Given the description of an element on the screen output the (x, y) to click on. 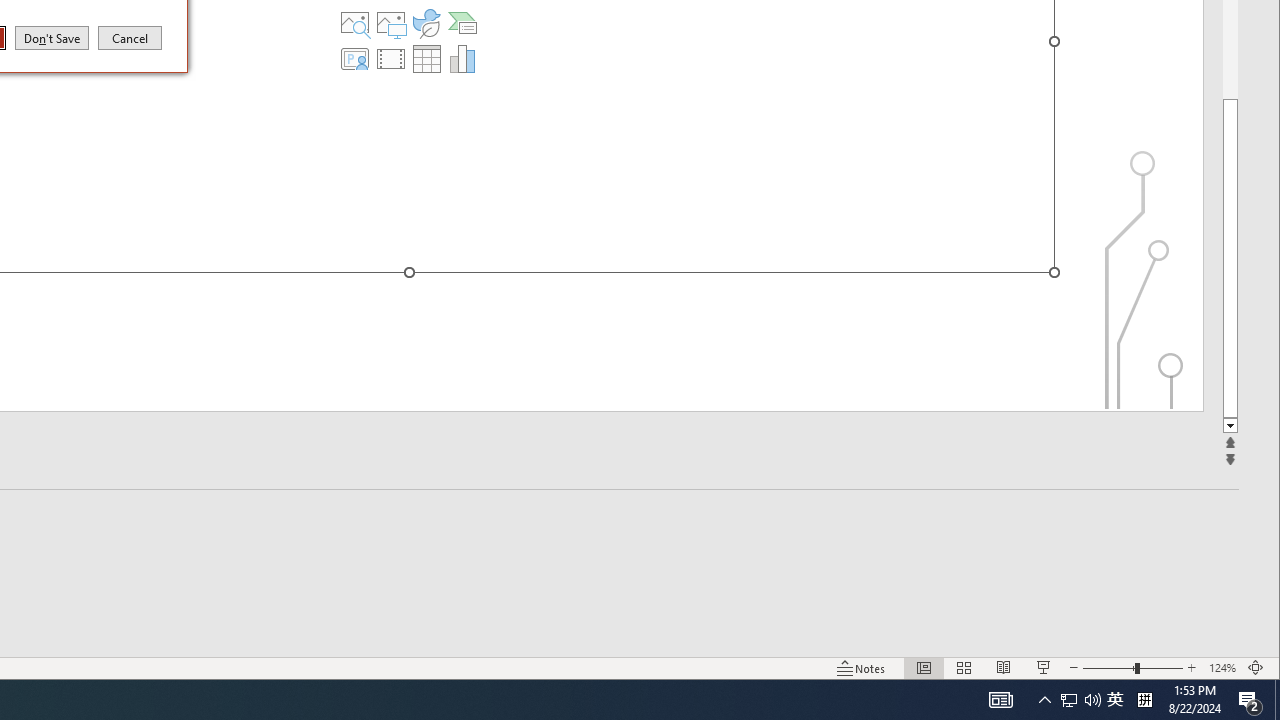
Show desktop (1277, 699)
